Given the description of an element on the screen output the (x, y) to click on. 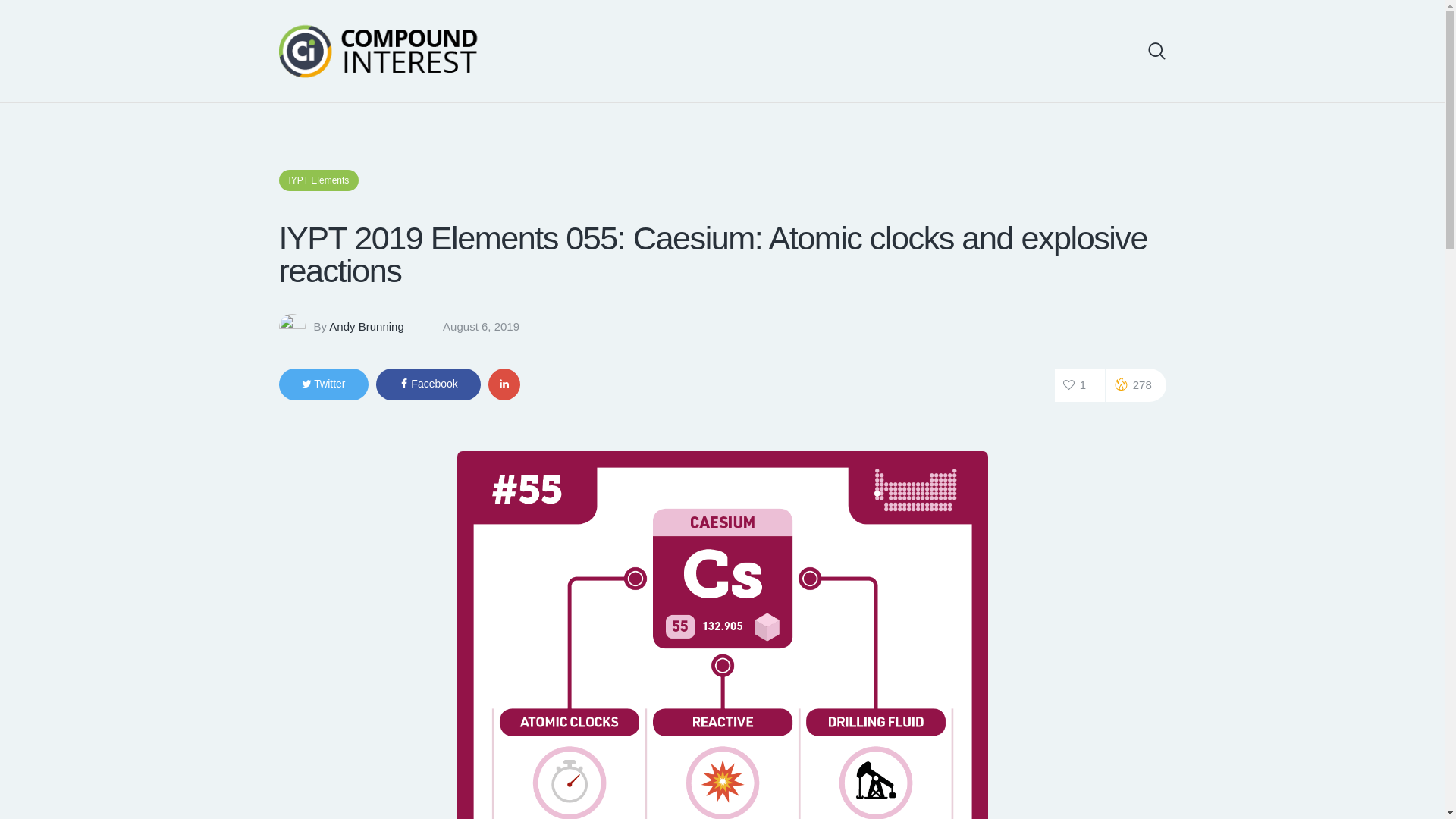
Twitter (323, 384)
Andy Brunning (366, 326)
Facebook (427, 384)
IYPT Elements (319, 179)
1 (1079, 385)
Like (1079, 385)
